Given the description of an element on the screen output the (x, y) to click on. 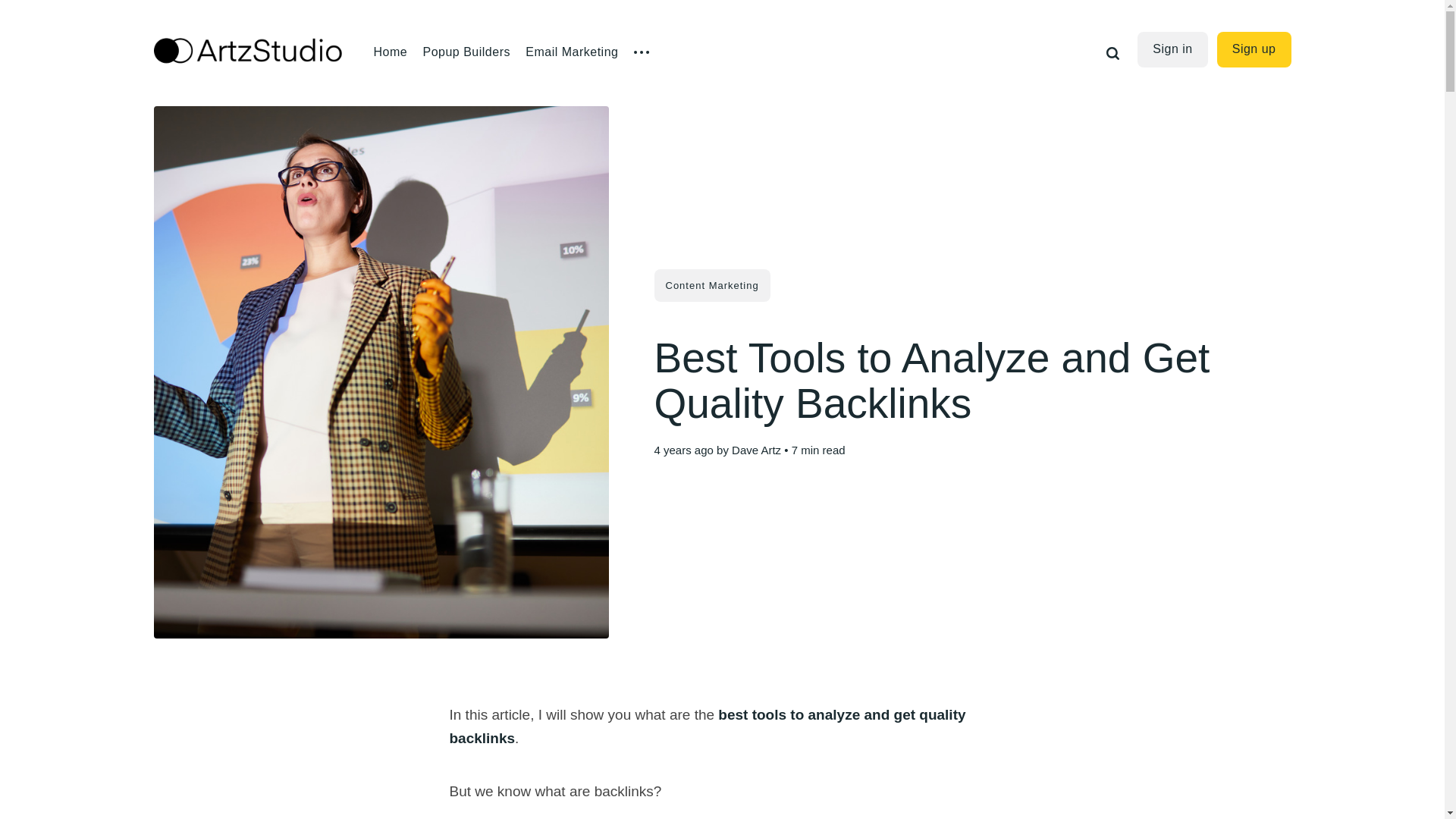
Home (389, 52)
Popup Builders (466, 52)
Sign in (1172, 49)
Dave Artz (756, 449)
Sign up (1254, 49)
Email Marketing (571, 52)
Content Marketing (711, 285)
